Given the description of an element on the screen output the (x, y) to click on. 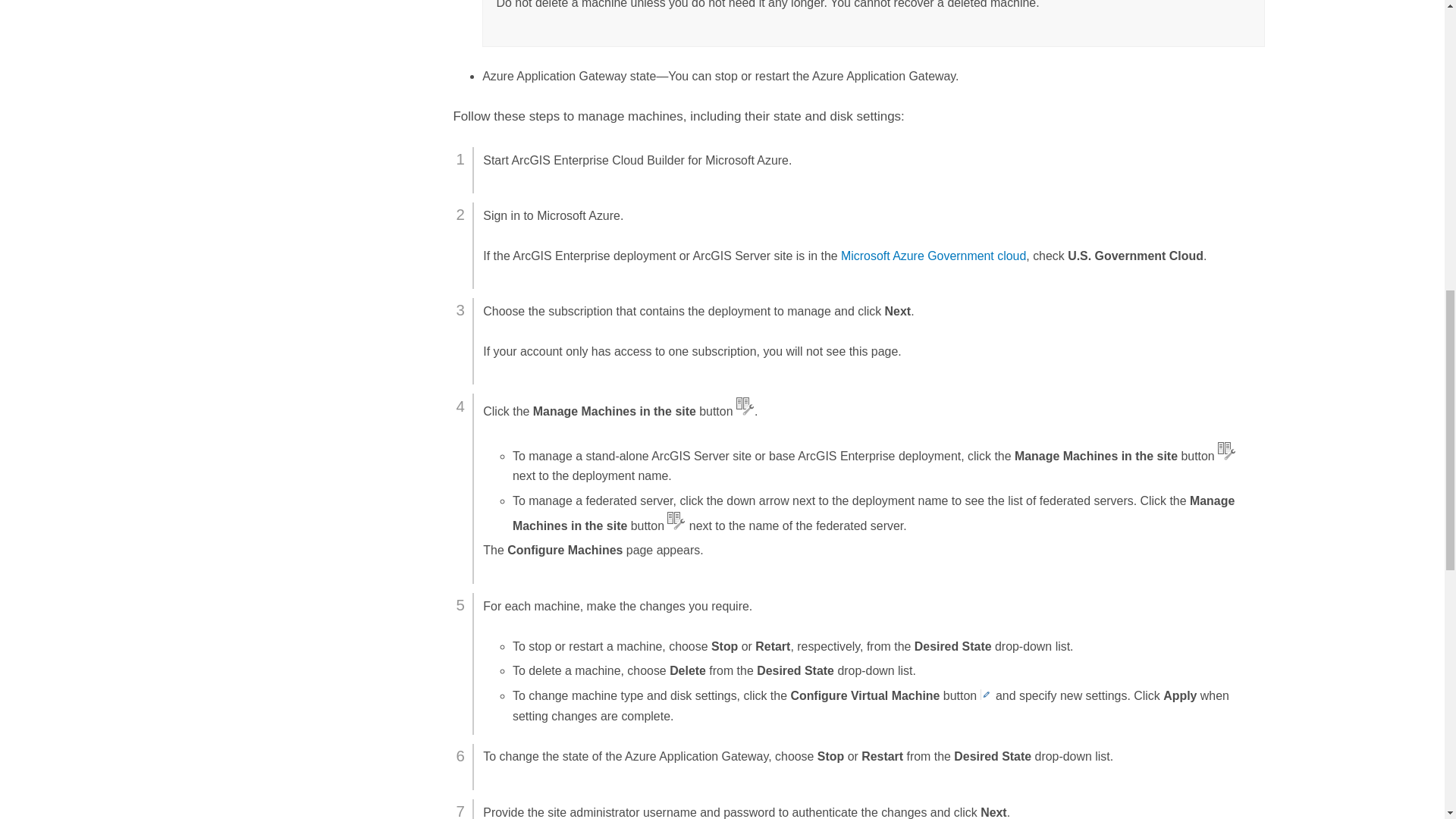
Configure Virtual Machine (985, 694)
Manage Machines in the site (675, 520)
Manage Machines in the site (1226, 451)
Manage Machines in the site (745, 406)
